Given the description of an element on the screen output the (x, y) to click on. 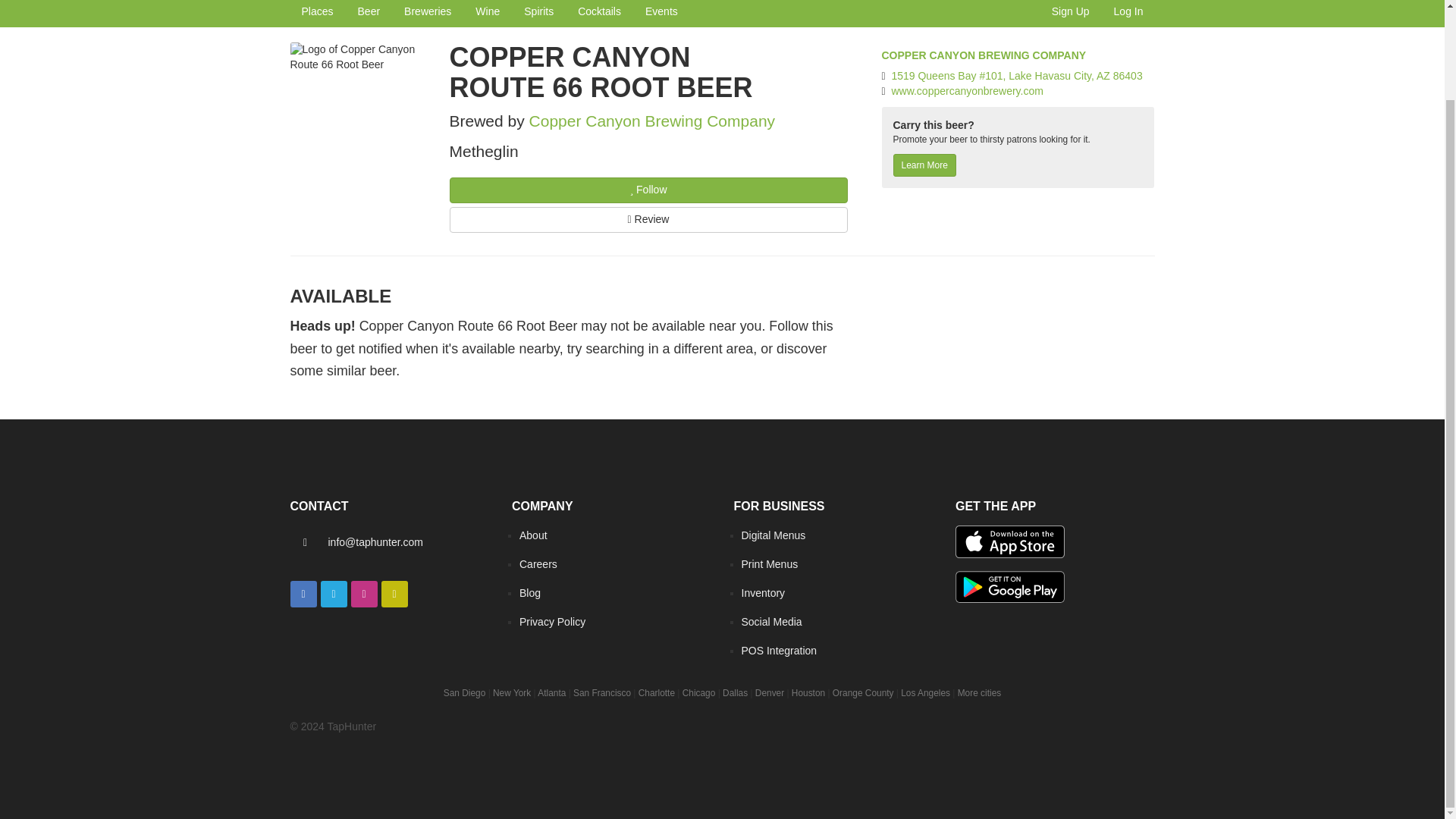
POS Integration (778, 650)
Log In (1128, 13)
Cocktails (598, 13)
Blog (529, 592)
Follow (647, 190)
Social Media (771, 621)
Get it on Google Play (1009, 587)
Digital Menus (773, 535)
Login and follow  (630, 190)
New York (512, 692)
About (533, 535)
COPPER CANYON BREWING COMPANY (983, 55)
Review (647, 219)
Download on the AppStore (1009, 541)
Review Copper Canyon Route 66 Root Beer (647, 219)
